Given the description of an element on the screen output the (x, y) to click on. 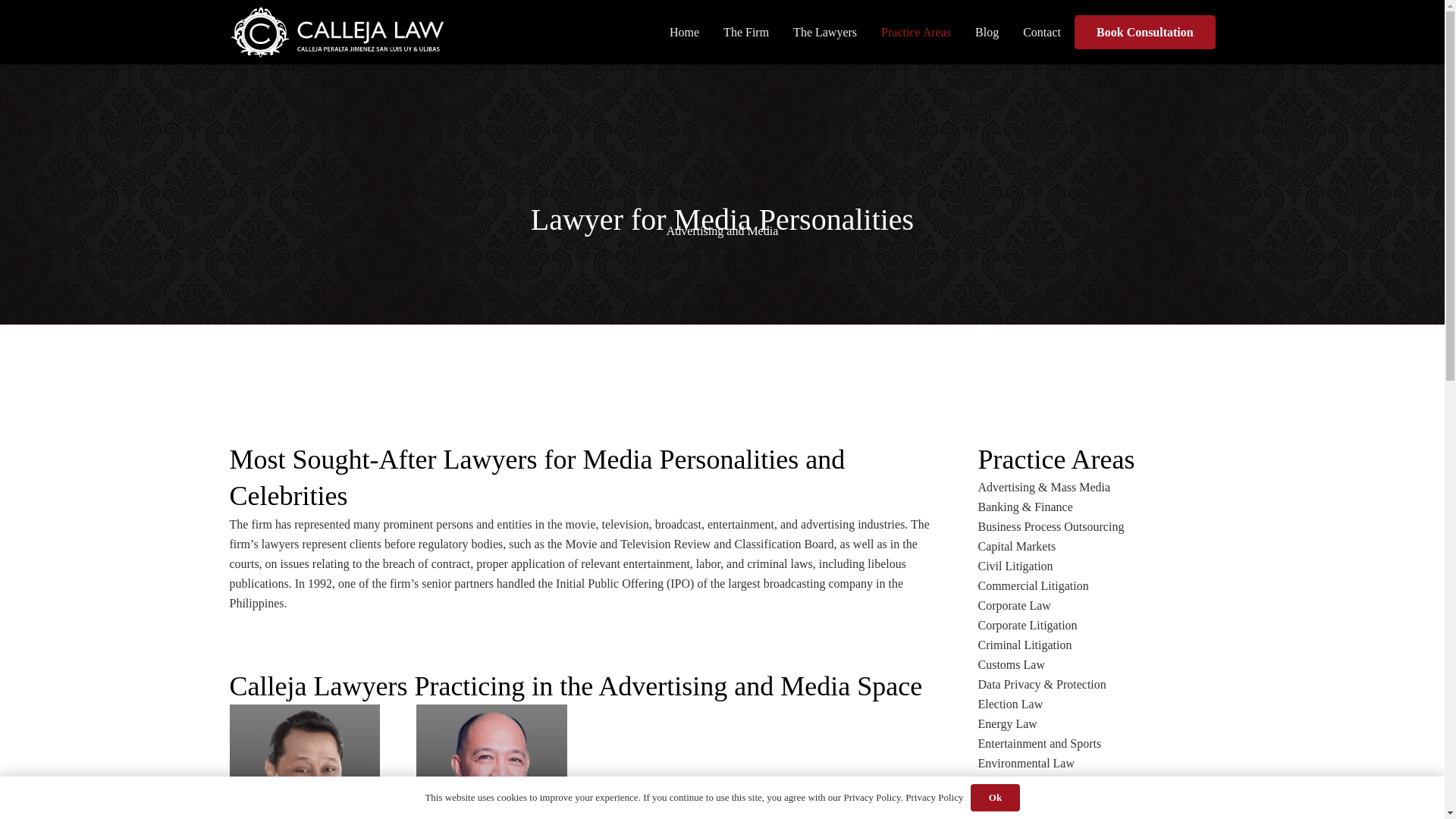
Business Process Outsourcing (1051, 526)
Book Consultation (1144, 32)
The Lawyers (824, 32)
Corporate Law (1014, 604)
Practice Areas (915, 32)
Energy Law (1007, 723)
Contact (1041, 32)
Entertainment and Sports (1040, 743)
The Firm (745, 32)
